Given the description of an element on the screen output the (x, y) to click on. 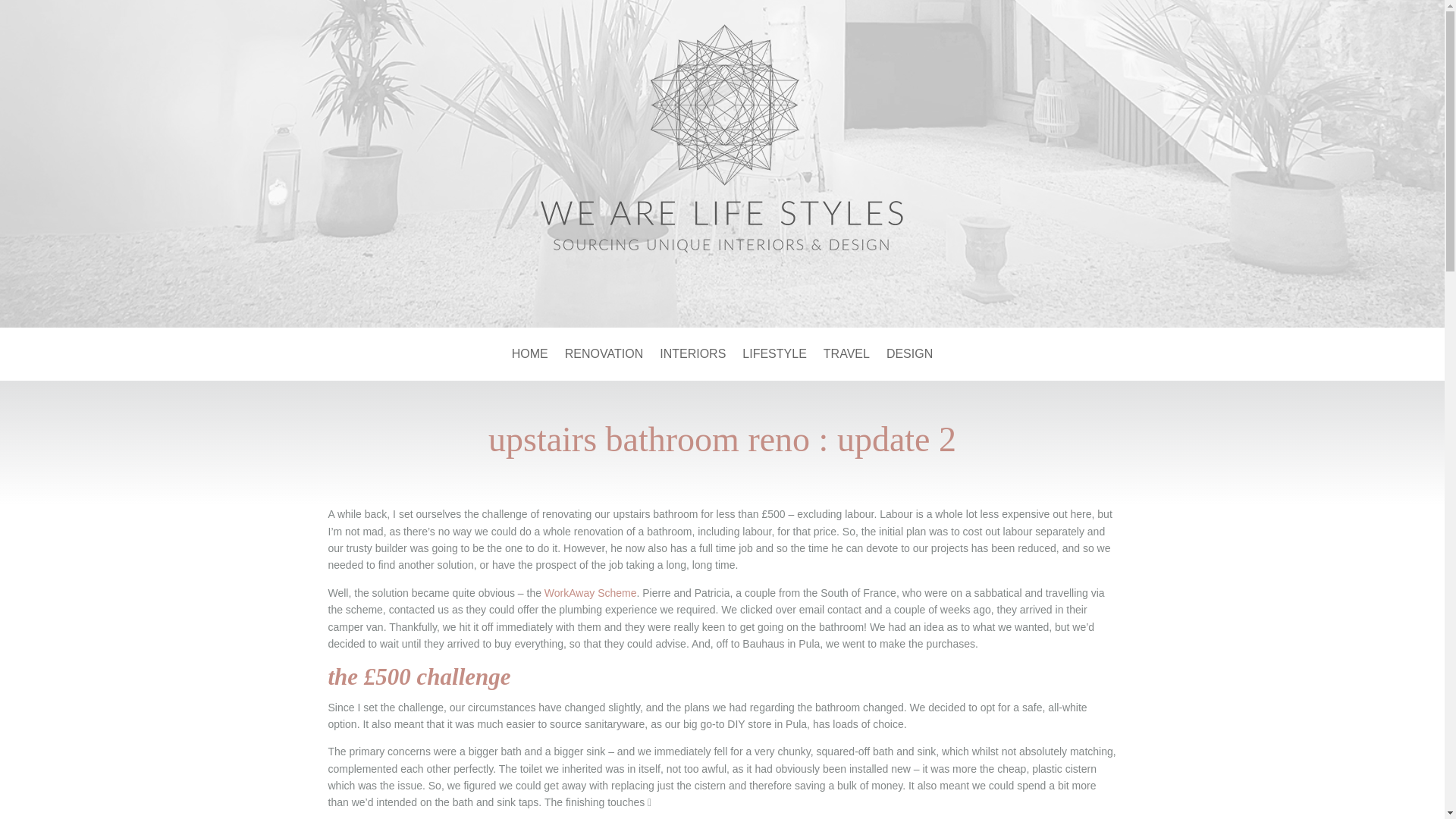
LIFESTYLE (774, 356)
INTERIORS (692, 356)
TRAVEL (846, 356)
HOME (530, 356)
DESIGN (909, 356)
RENOVATION (603, 356)
We Are Life Styles (721, 146)
WorkAway Scheme (590, 592)
